Given the description of an element on the screen output the (x, y) to click on. 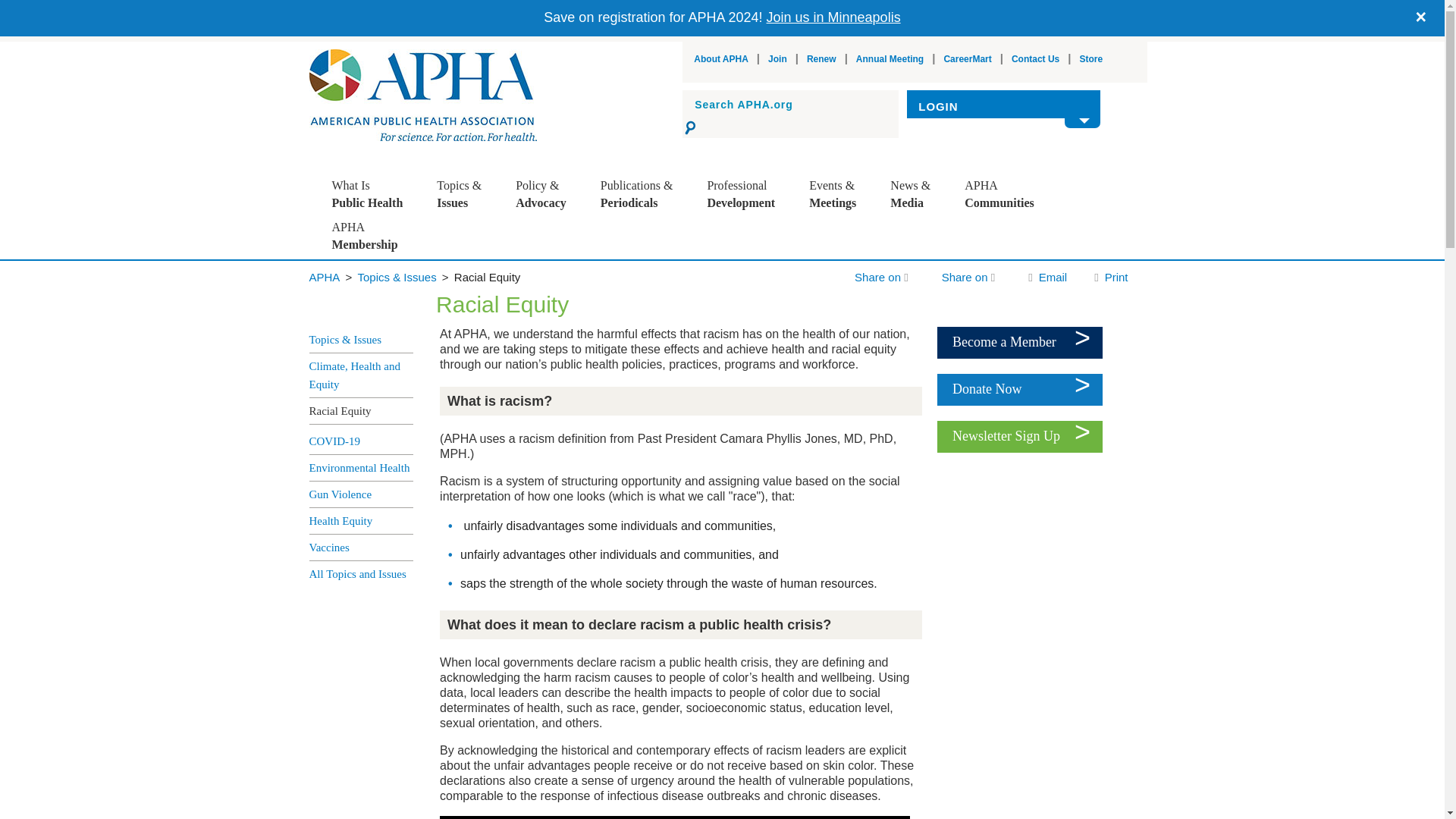
Gun Violence (494, 334)
CareerMart (967, 59)
Submit (692, 127)
Books (658, 284)
Public Health Buyers Guide (658, 384)
Store (1091, 59)
Contact Us (1035, 59)
Join us in Minneapolis (834, 17)
Vaccines (494, 384)
LOGIN (1003, 106)
